Given the description of an element on the screen output the (x, y) to click on. 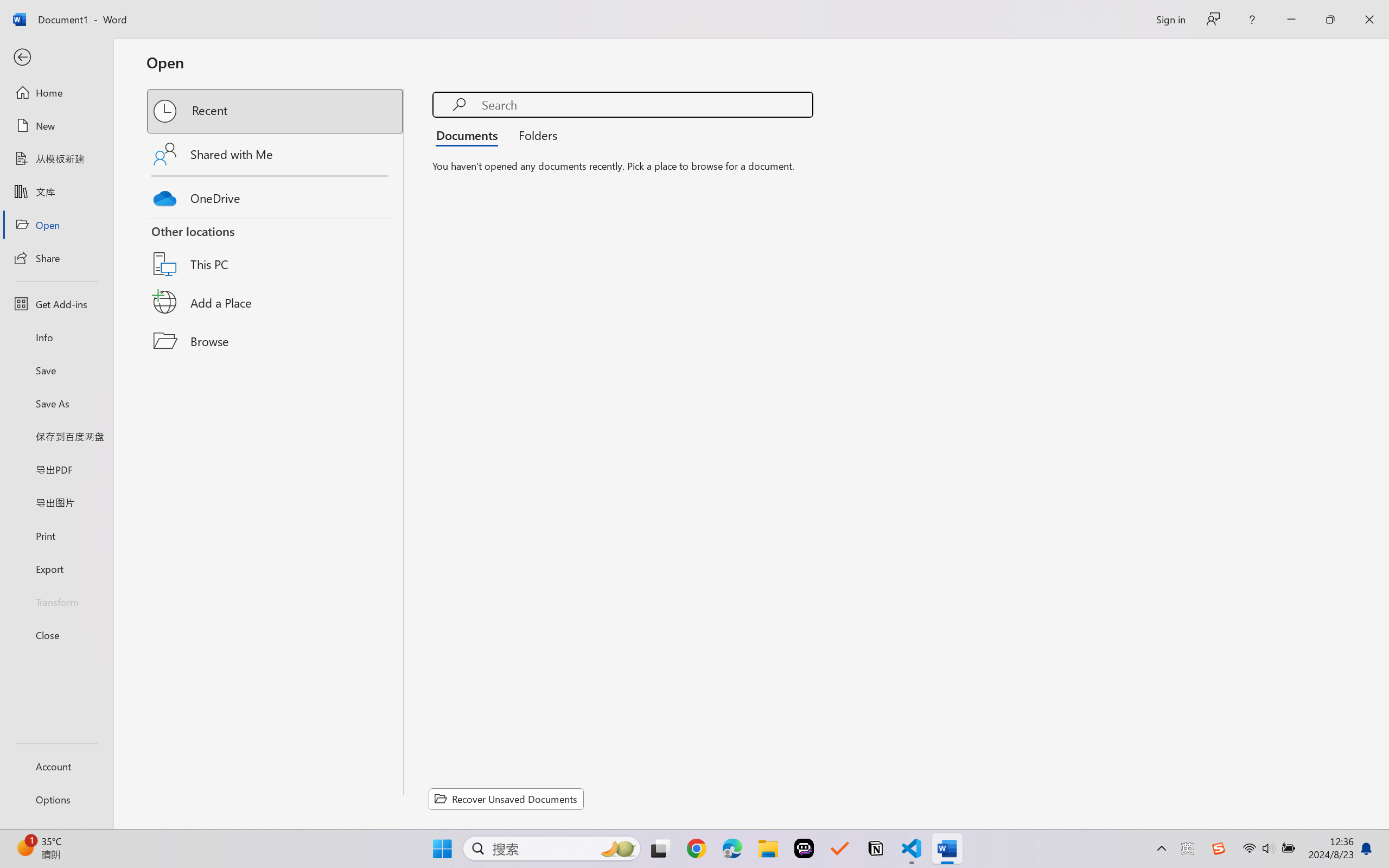
Folders (534, 134)
Get Add-ins (56, 303)
This PC (275, 249)
Transform (56, 601)
OneDrive (275, 195)
